Given the description of an element on the screen output the (x, y) to click on. 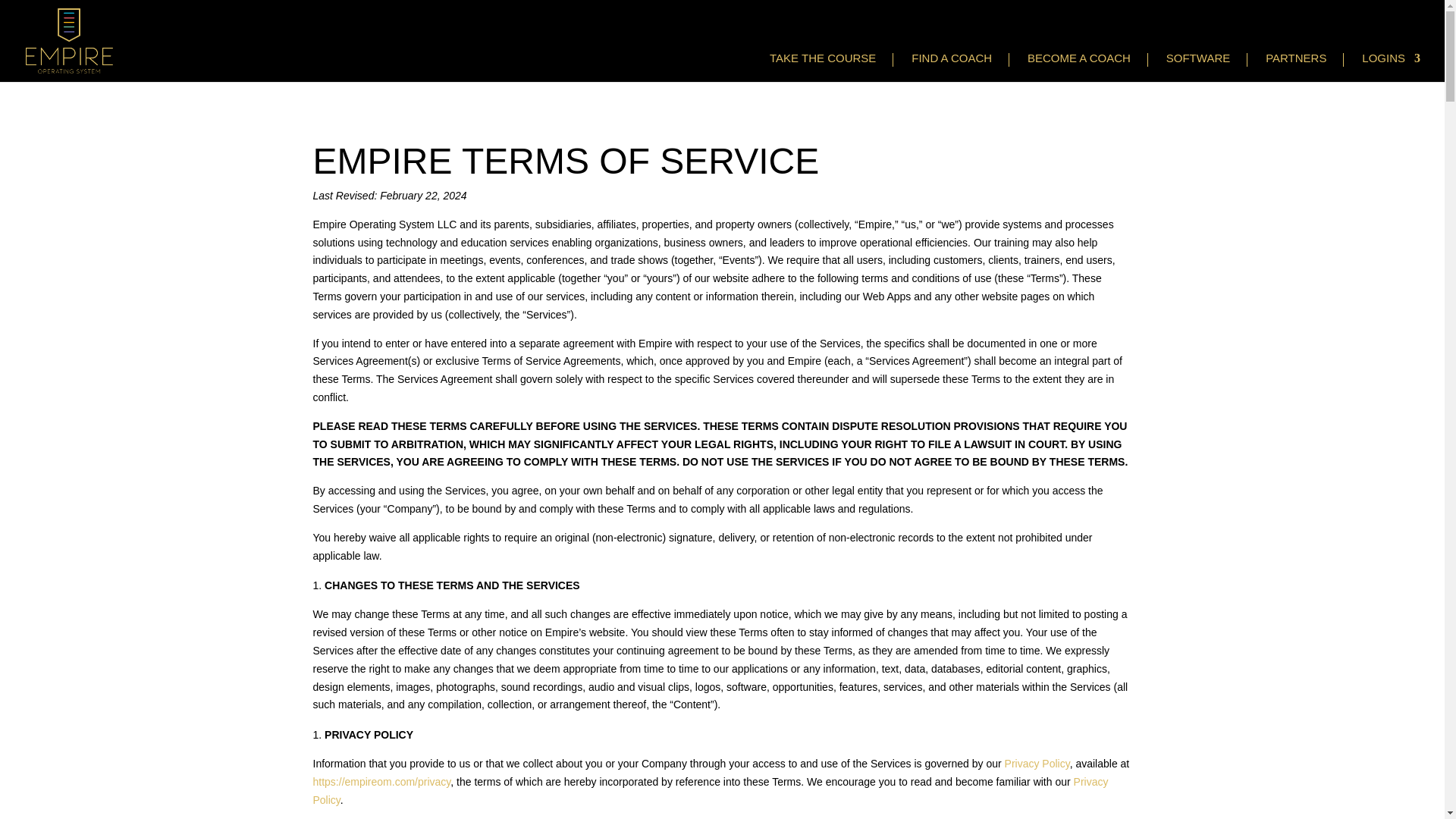
Privacy Policy (1037, 763)
TAKE THE COURSE (815, 59)
LOGINS (1383, 59)
Privacy Policy (710, 790)
BECOME A COACH (1071, 59)
SOFTWARE (1190, 59)
PARTNERS (1288, 59)
FIND A COACH (943, 59)
